Given the description of an element on the screen output the (x, y) to click on. 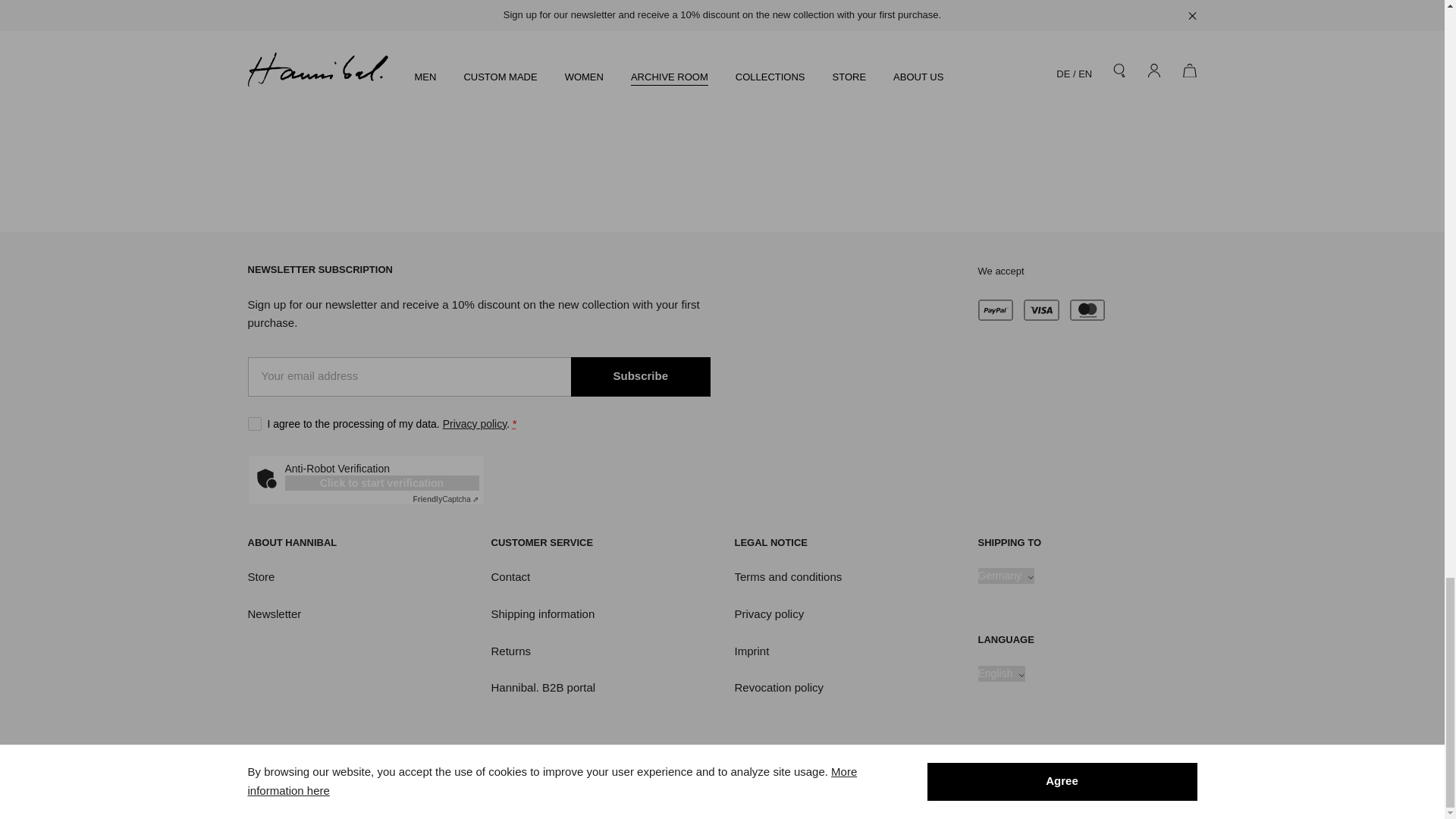
on (253, 423)
Subscribe (640, 376)
